Given the description of an element on the screen output the (x, y) to click on. 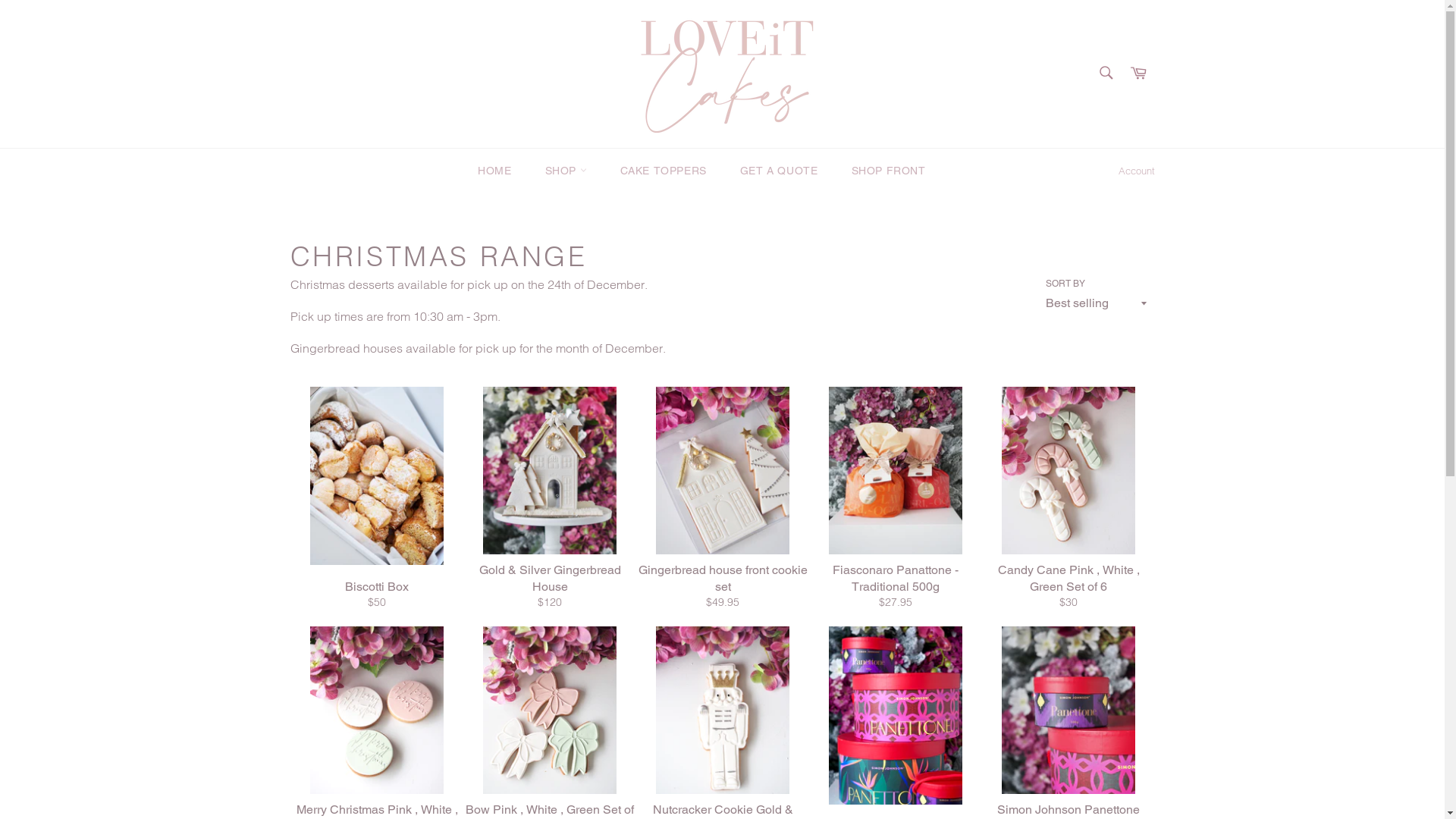
Fiasconaro Panattone - Traditional 500g
Regular price
$27.95 Element type: text (894, 506)
Account Element type: text (1135, 171)
Biscotti Box
Regular price
$50 Element type: text (375, 506)
Gold & Silver Gingerbread House
Regular price
$120 Element type: text (548, 506)
Cart Element type: text (1138, 73)
SHOP FRONT Element type: text (887, 170)
Candy Cane Pink , White , Green Set of 6
Regular price
$30 Element type: text (1067, 506)
GET A QUOTE Element type: text (778, 170)
CAKE TOPPERS Element type: text (663, 170)
HOME Element type: text (494, 170)
Gingerbread house front cookie set
Regular price
$49.95 Element type: text (721, 506)
Search Element type: text (1105, 72)
SHOP Element type: text (566, 170)
